Given the description of an element on the screen output the (x, y) to click on. 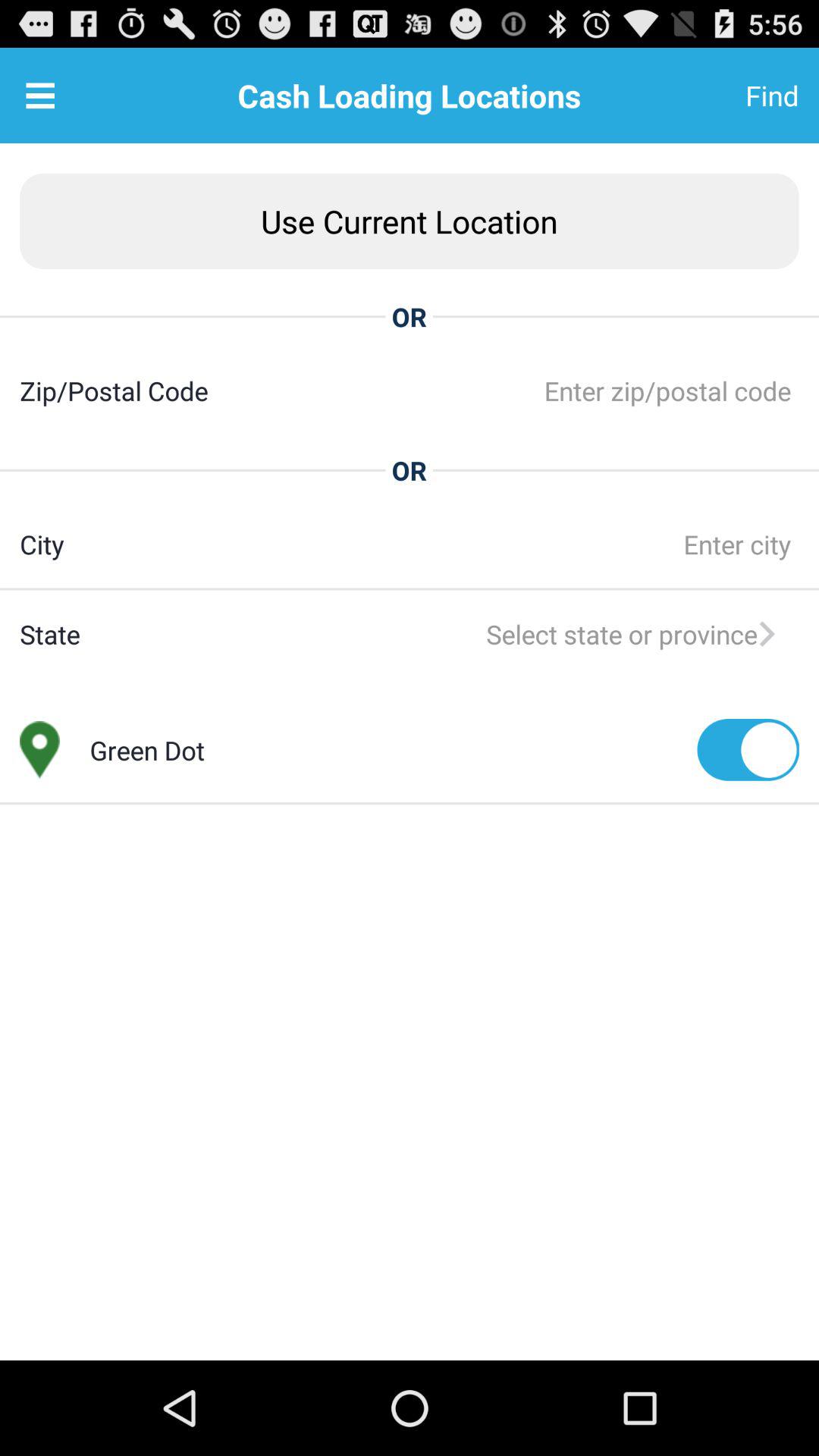
open find at the top right corner (735, 95)
